Given the description of an element on the screen output the (x, y) to click on. 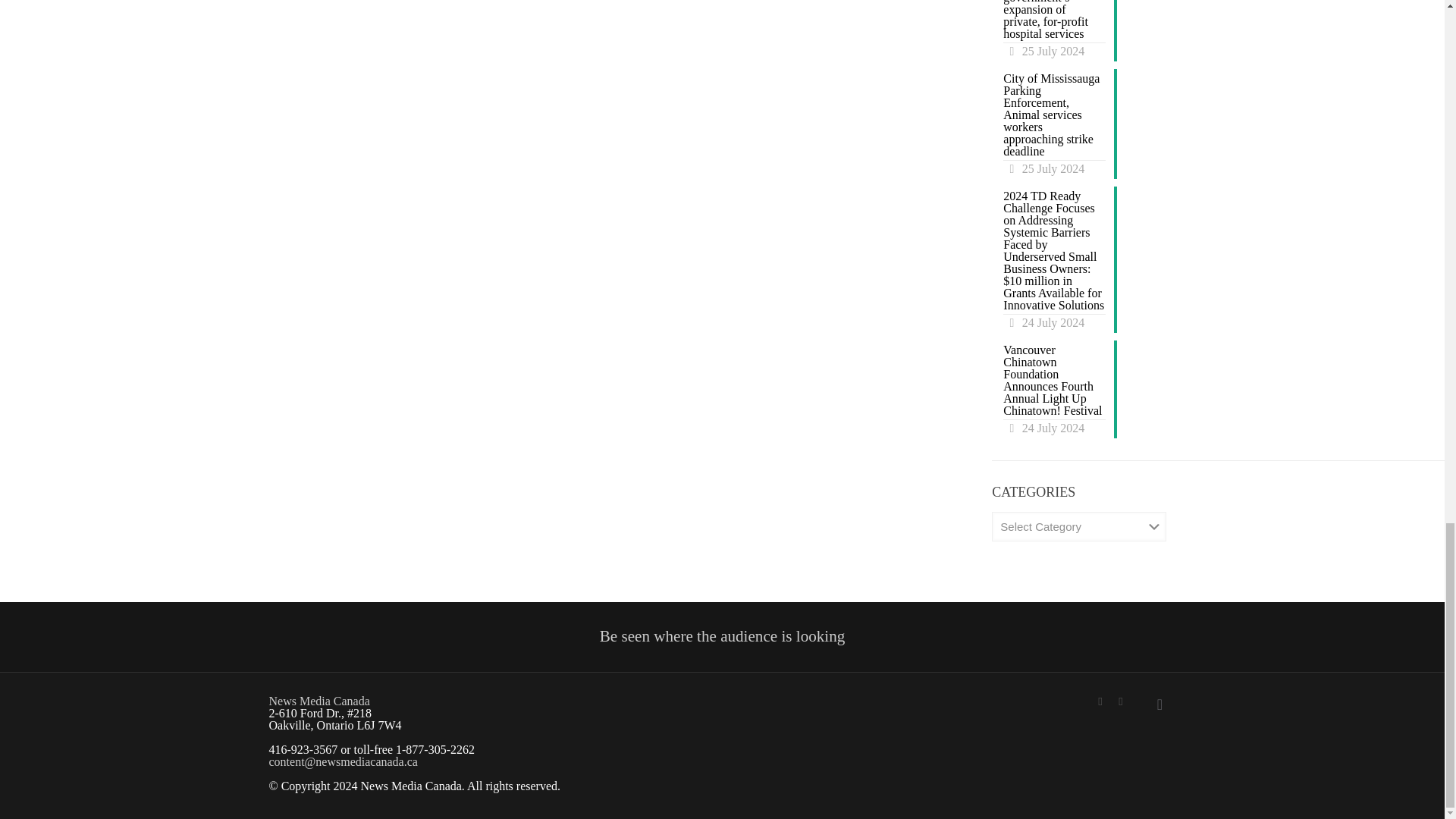
RSS (1121, 701)
News Media Canada (318, 700)
Twitter (1100, 701)
